Given the description of an element on the screen output the (x, y) to click on. 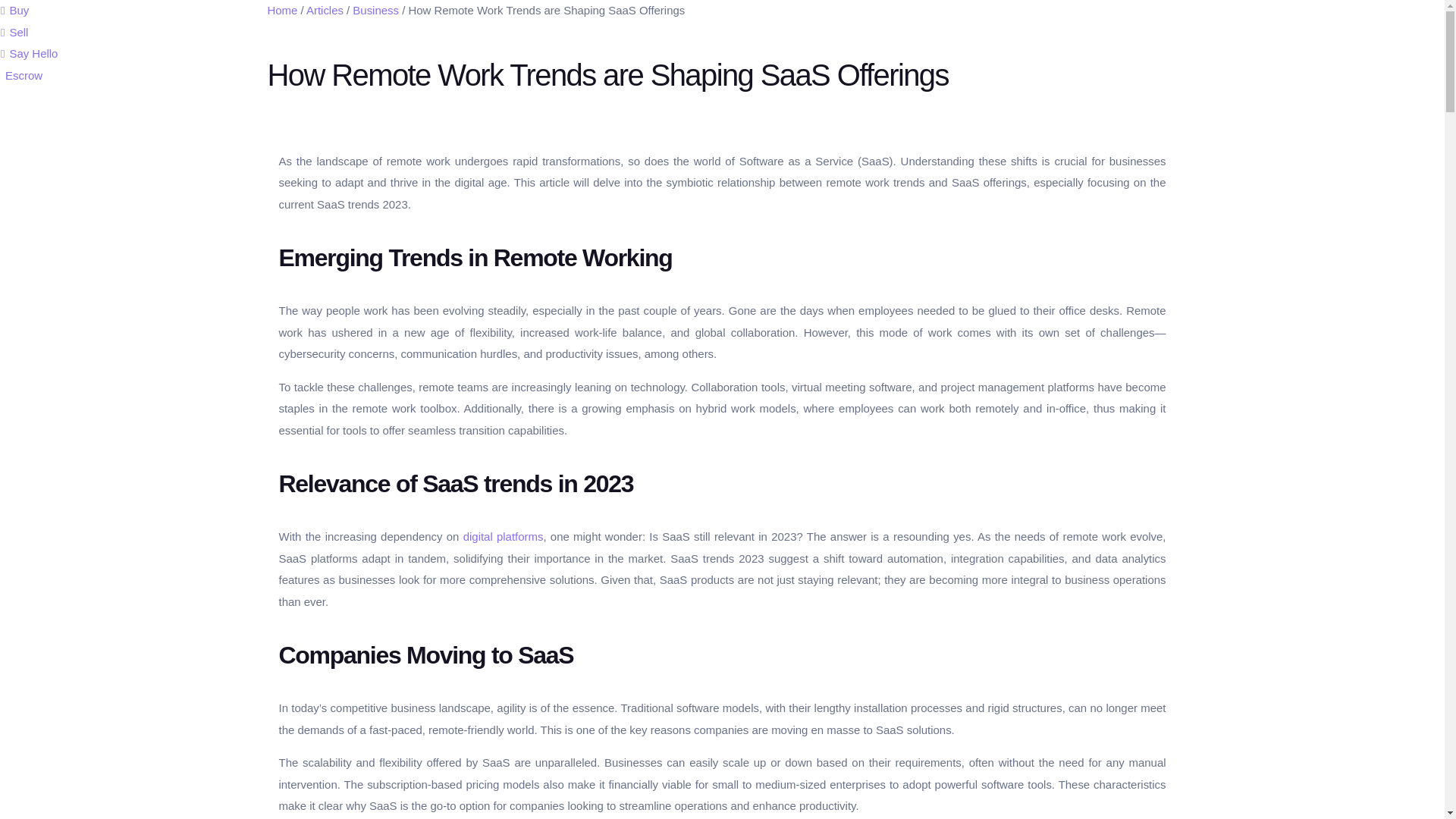
Buy (14, 10)
Business (375, 10)
Say Hello (29, 52)
digital platforms (503, 535)
Business (375, 10)
Sell (13, 31)
Escrow (21, 74)
Articles (324, 10)
Home (281, 10)
